Given the description of an element on the screen output the (x, y) to click on. 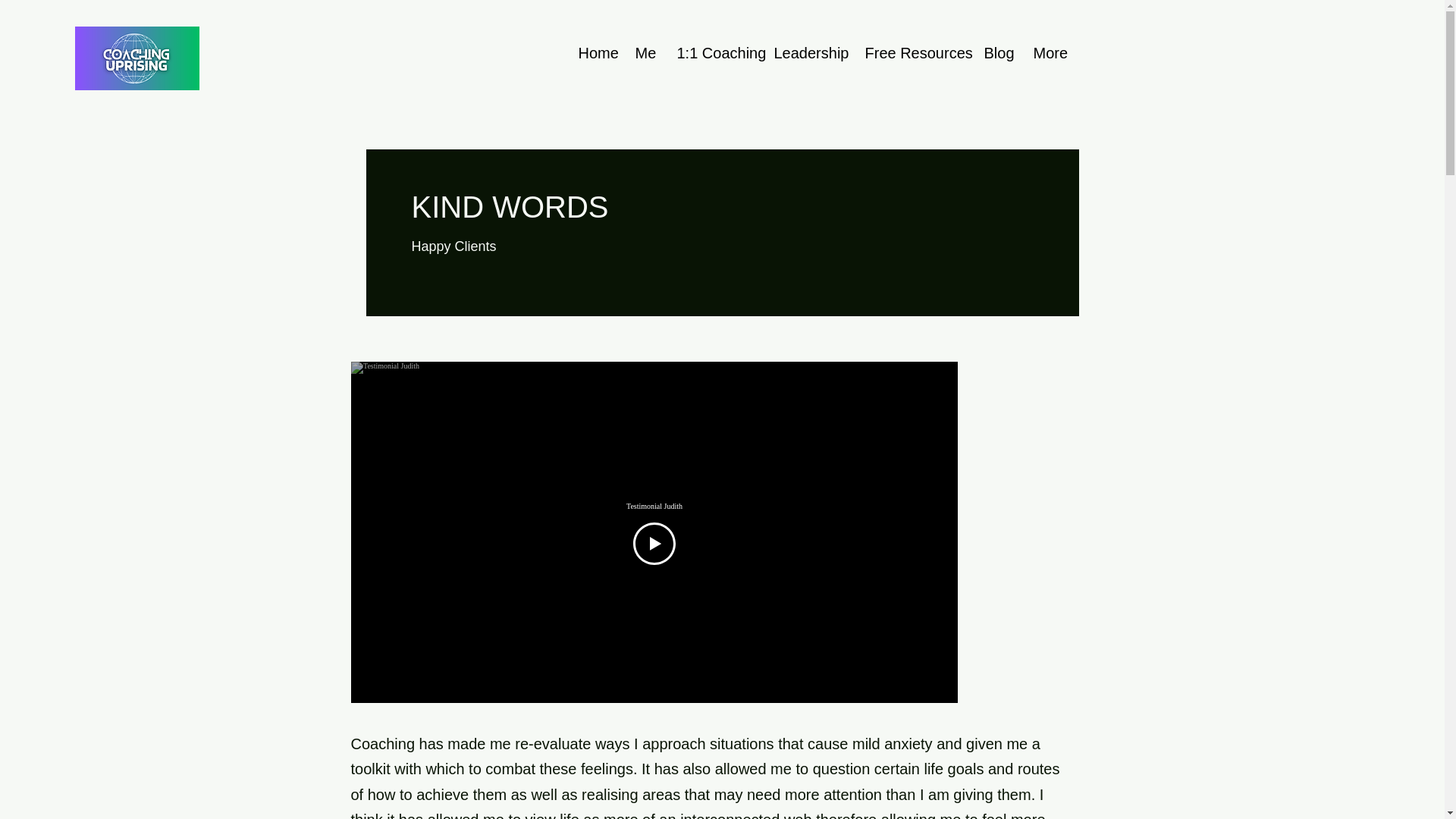
Blog (997, 51)
Leadership (807, 51)
Free Resources (912, 51)
1:1 Coaching (713, 51)
Testimonial Judith (653, 505)
Home (595, 51)
Me (644, 51)
